Given the description of an element on the screen output the (x, y) to click on. 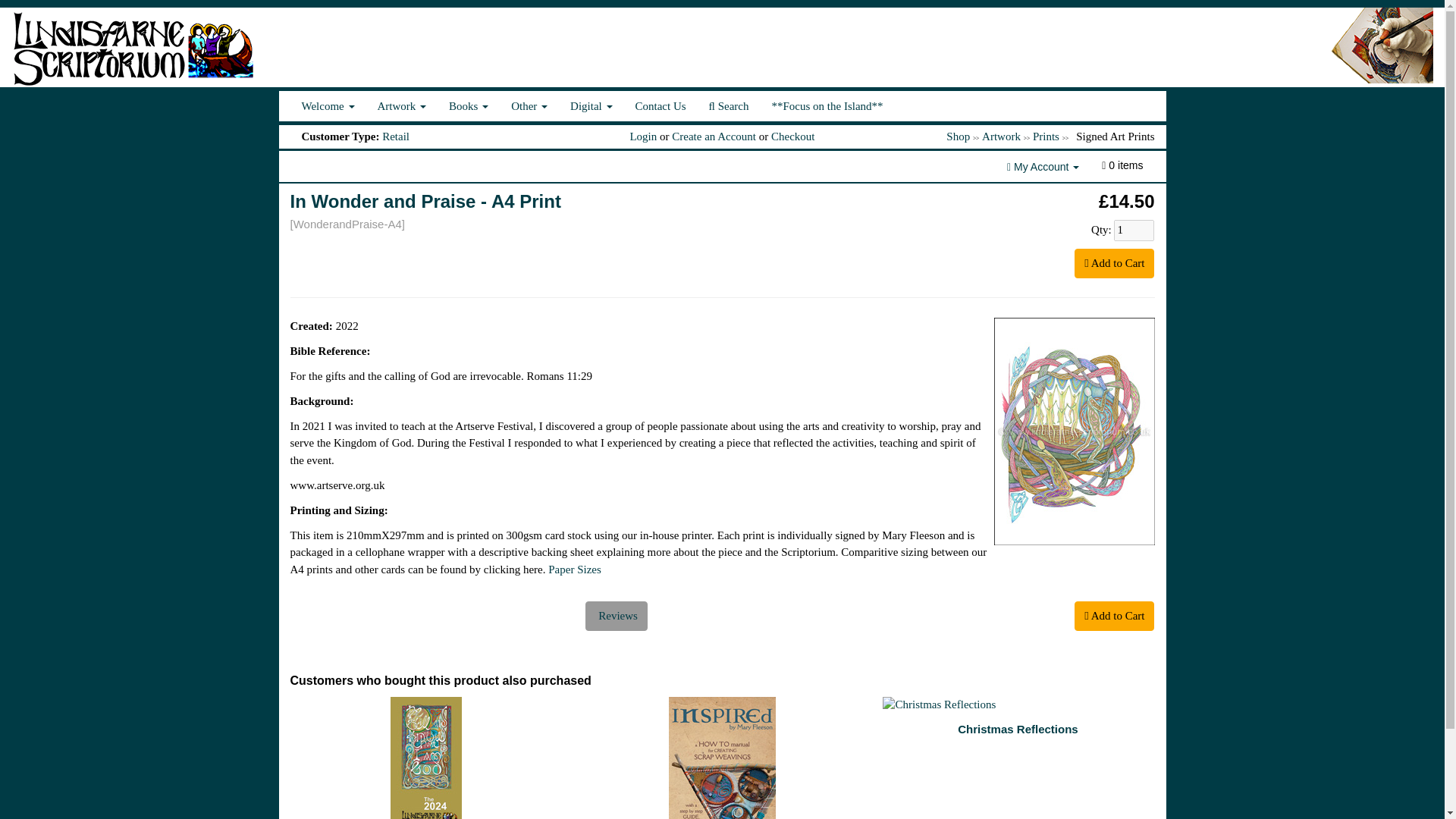
1 (1133, 230)
Christmas Reflections (1017, 704)
Welcome (327, 105)
Books (468, 105)
Artwork (402, 105)
